Given the description of an element on the screen output the (x, y) to click on. 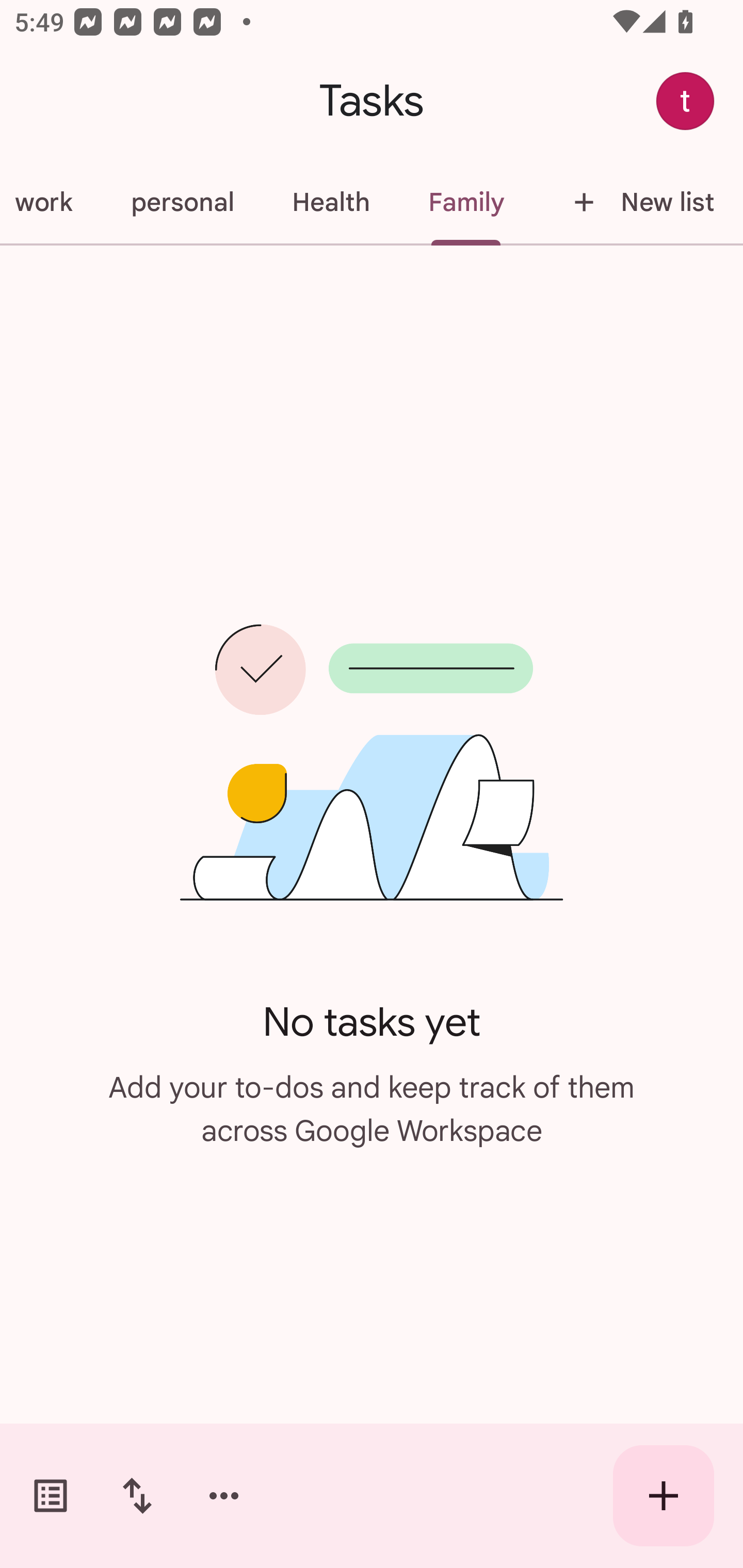
work (50, 202)
personal (181, 202)
Health (330, 202)
New list (638, 202)
Switch task lists (50, 1495)
Create new task (663, 1495)
Change sort order (136, 1495)
More options (223, 1495)
